Given the description of an element on the screen output the (x, y) to click on. 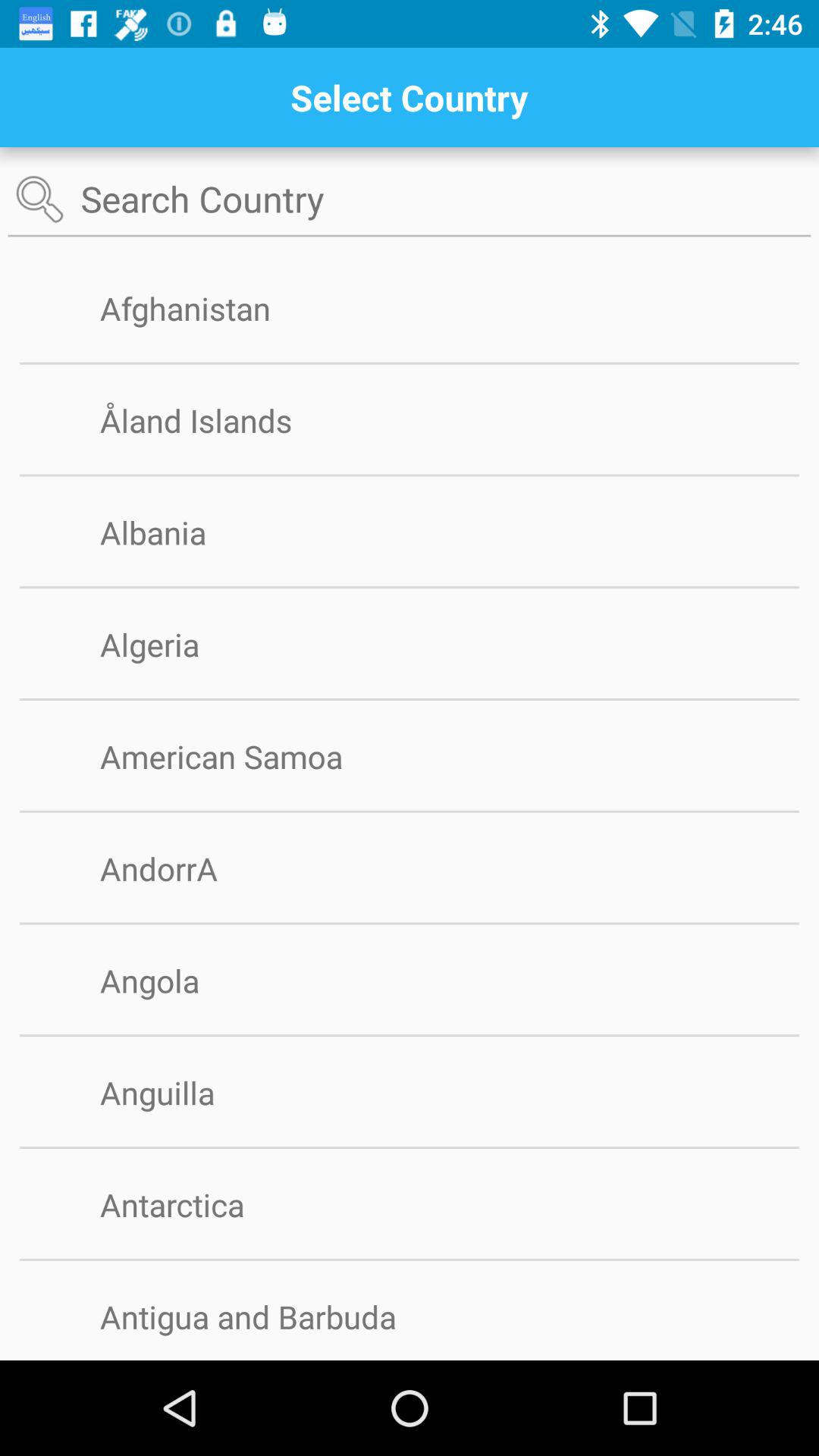
search text box (409, 199)
